Given the description of an element on the screen output the (x, y) to click on. 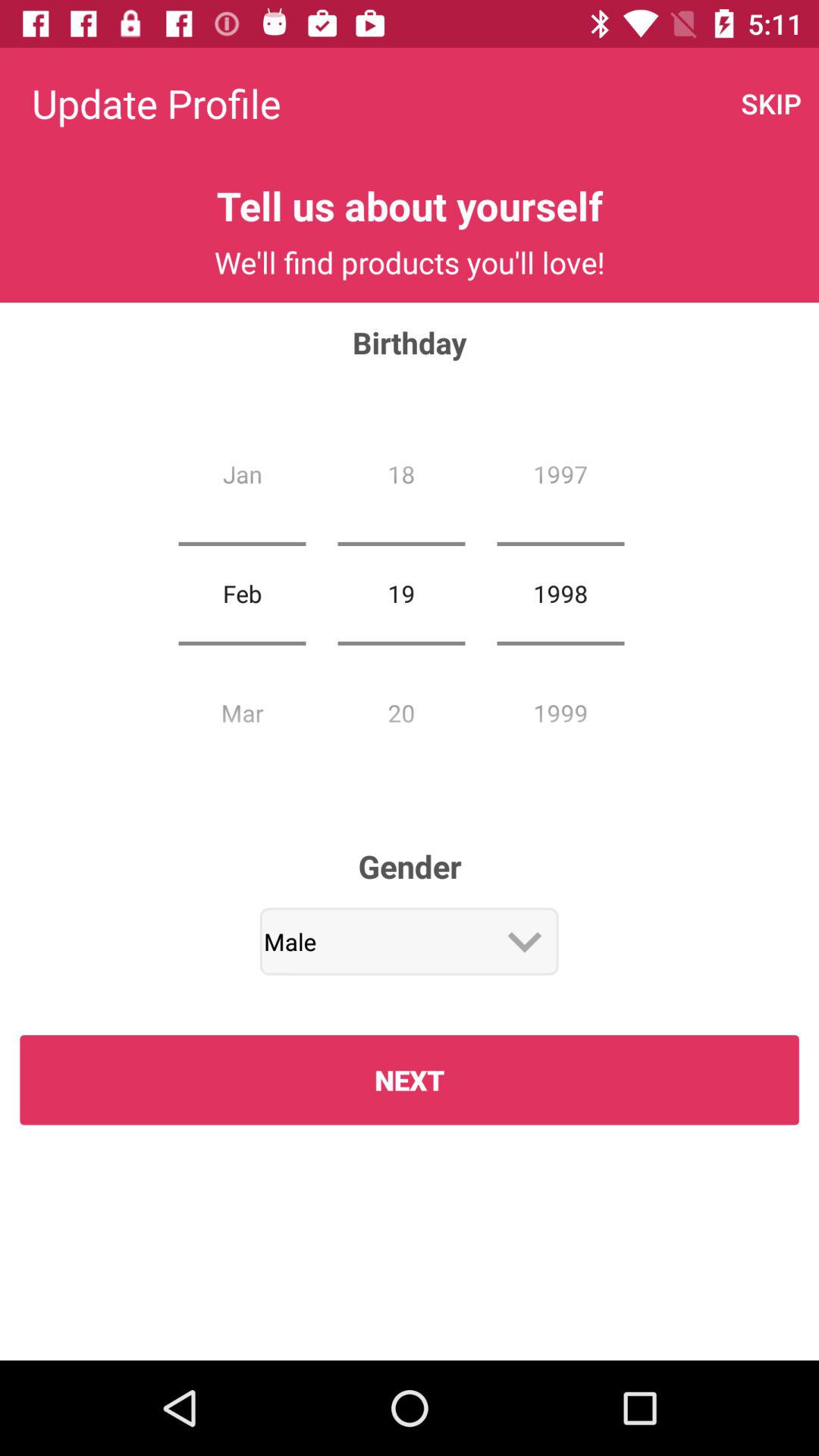
turn on the item above the gender item (401, 593)
